Given the description of an element on the screen output the (x, y) to click on. 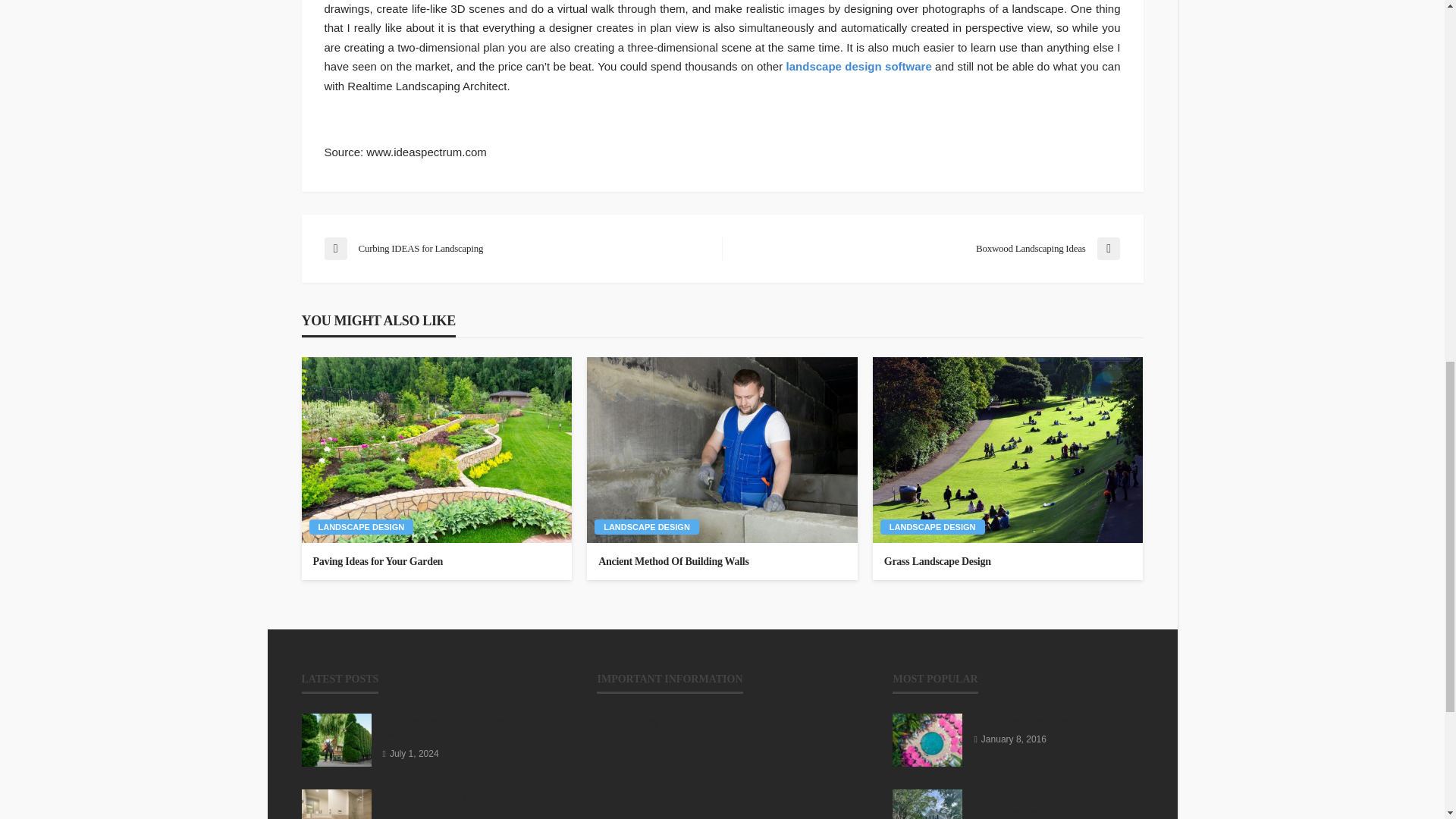
Grass Landscape Design (1007, 449)
Landscape Design (646, 526)
Landscape Design (932, 526)
Paving Ideas for Your Garden (436, 449)
Landscape Design (360, 526)
Boxwood Landscaping Ideas (927, 248)
Paving Ideas for Your Garden (436, 561)
Ancient Method Of Building Walls (721, 561)
Curbing IDEAS for Landscaping (515, 248)
Ancient Method Of Building Walls (721, 449)
Landscape Design Software for Mac (858, 65)
